Given the description of an element on the screen output the (x, y) to click on. 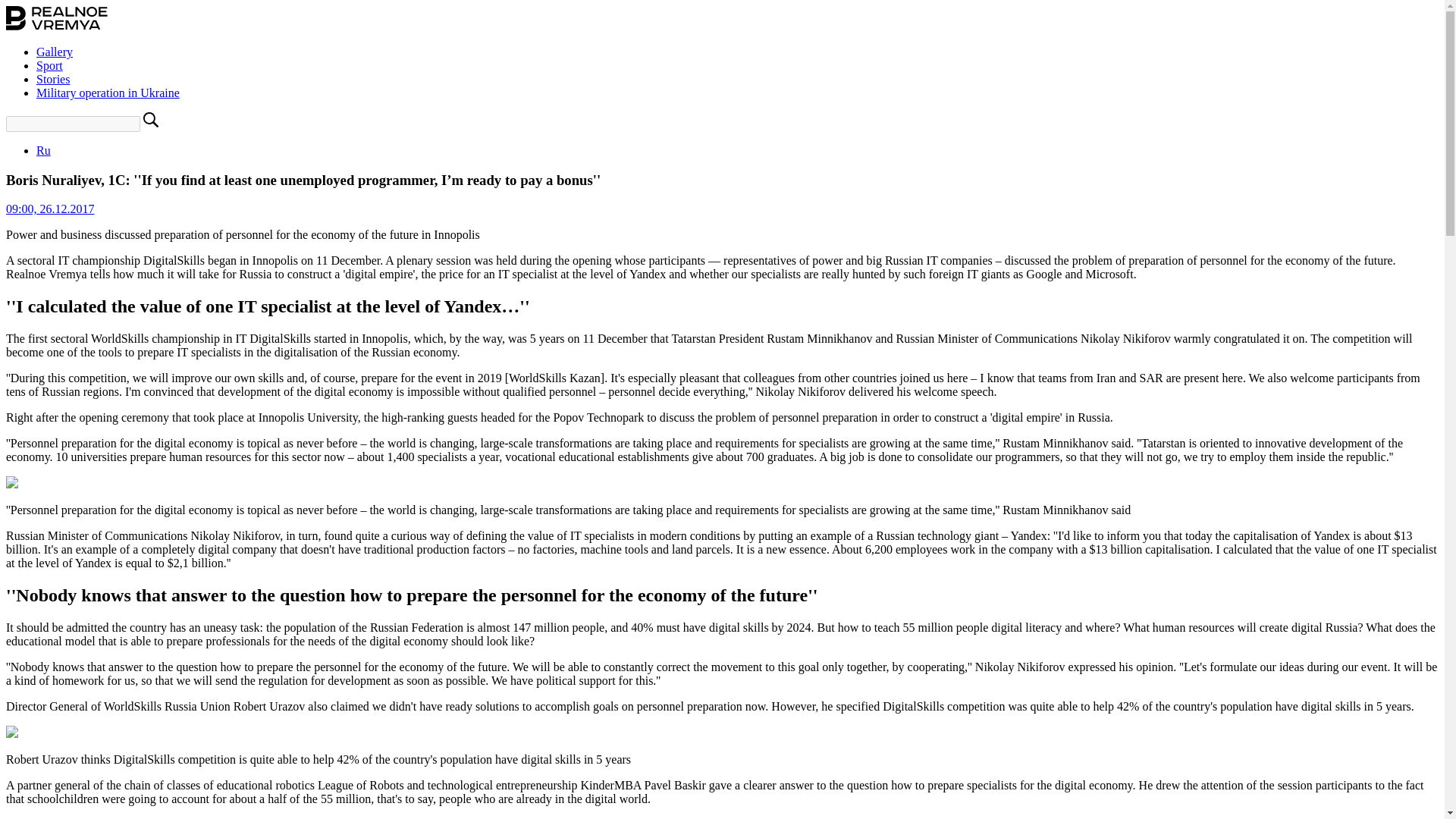
Stories (52, 78)
Gallery (54, 51)
Ru (43, 150)
Military operation in Ukraine (107, 92)
09:00, 26.12.2017 (49, 208)
Sport (49, 65)
